Given the description of an element on the screen output the (x, y) to click on. 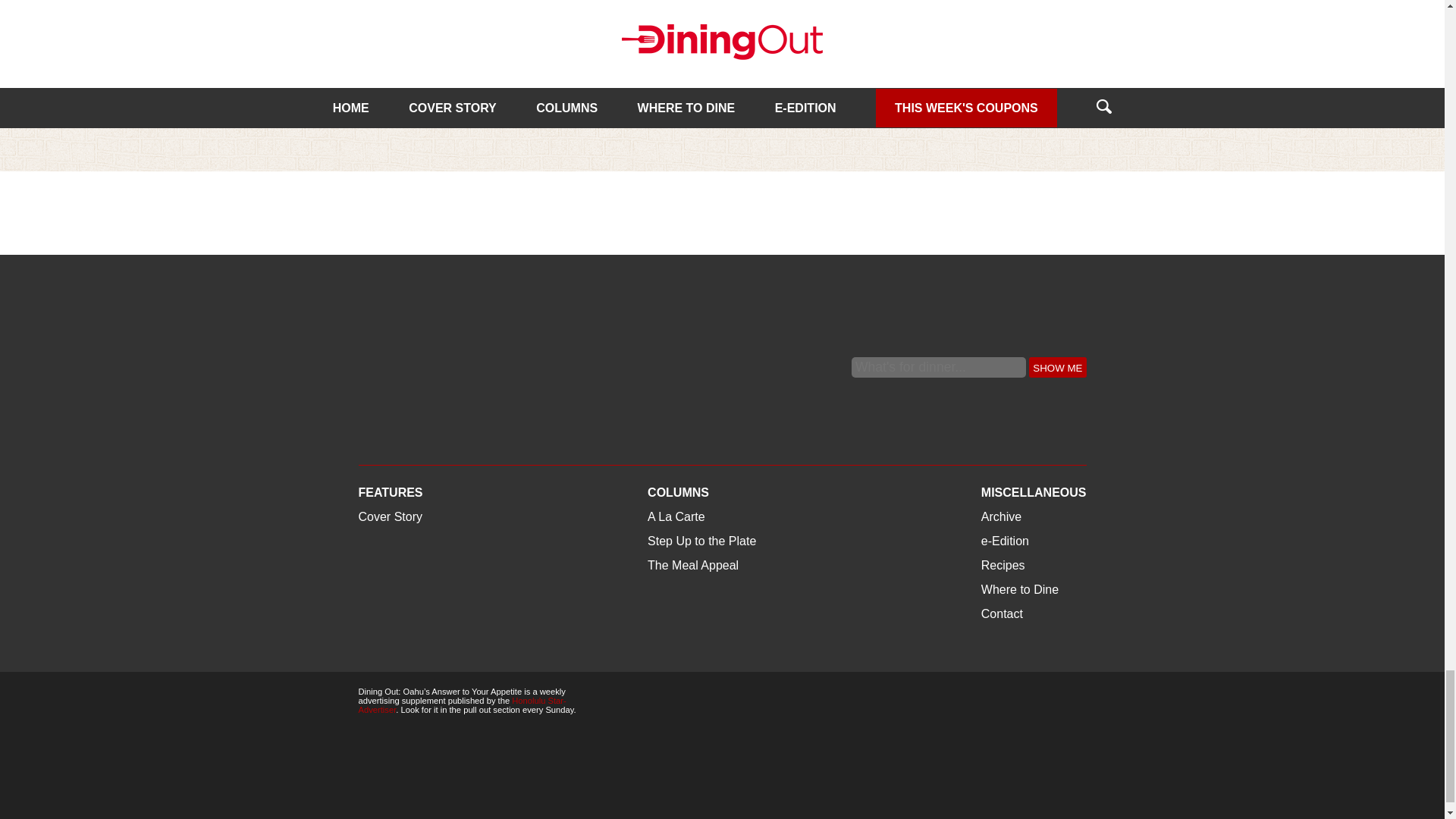
A La Carte (386, 69)
A La Carte (386, 69)
Local company highlights ono ulu (468, 56)
Local company highlights ono ulu (453, 105)
A La Carte (640, 69)
A La Carte (640, 69)
Indulge in a memorable meal (718, 94)
Indulge in a memorable meal (718, 94)
Indulge in a memorable meal (722, 56)
Local company highlights ono ulu (453, 105)
